Given the description of an element on the screen output the (x, y) to click on. 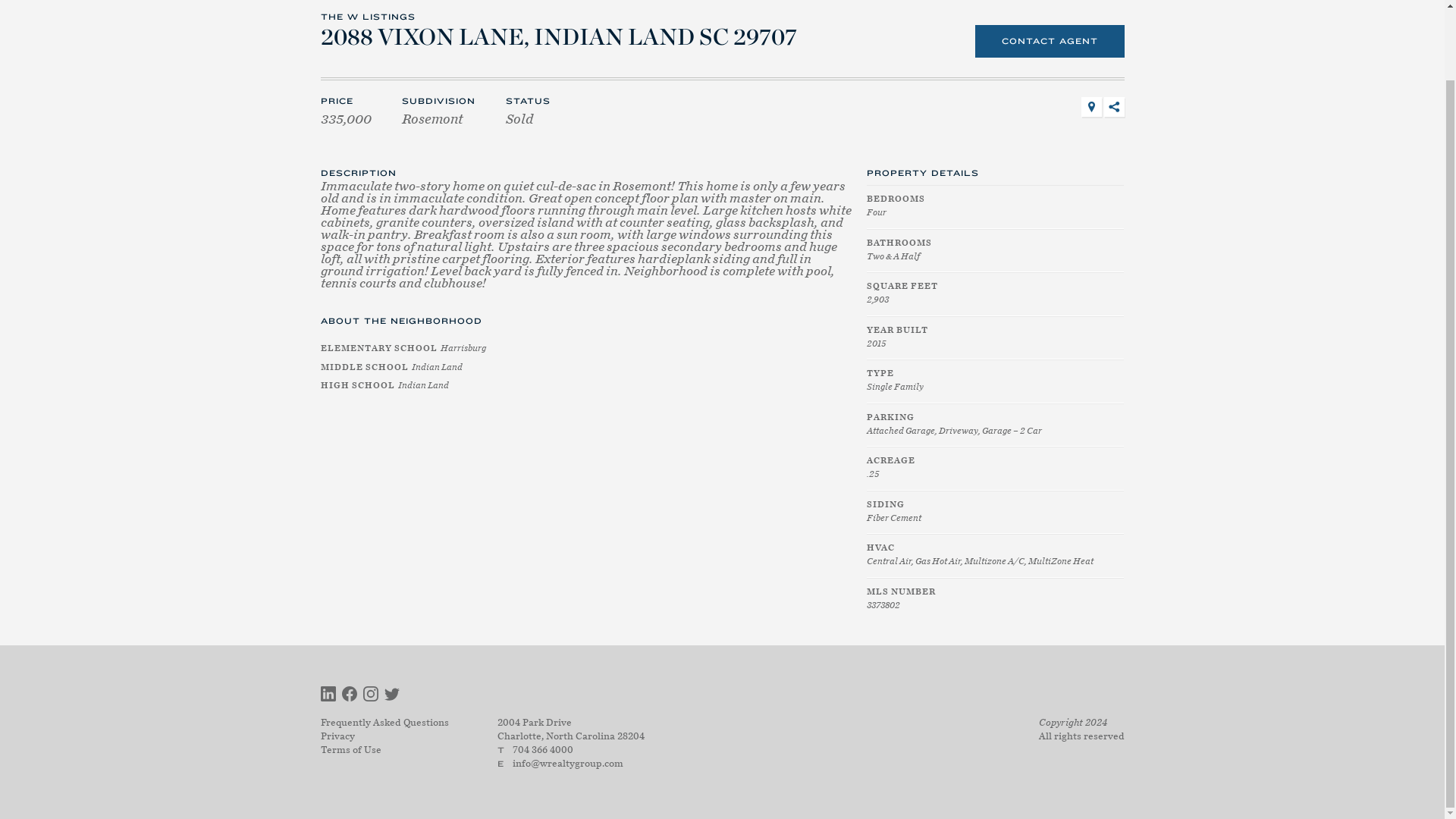
Frequently Asked Questions (384, 722)
Privacy (336, 736)
Terms of Use (350, 749)
CONTACT AGENT (1049, 41)
Share (1113, 107)
Map (1091, 107)
